Given the description of an element on the screen output the (x, y) to click on. 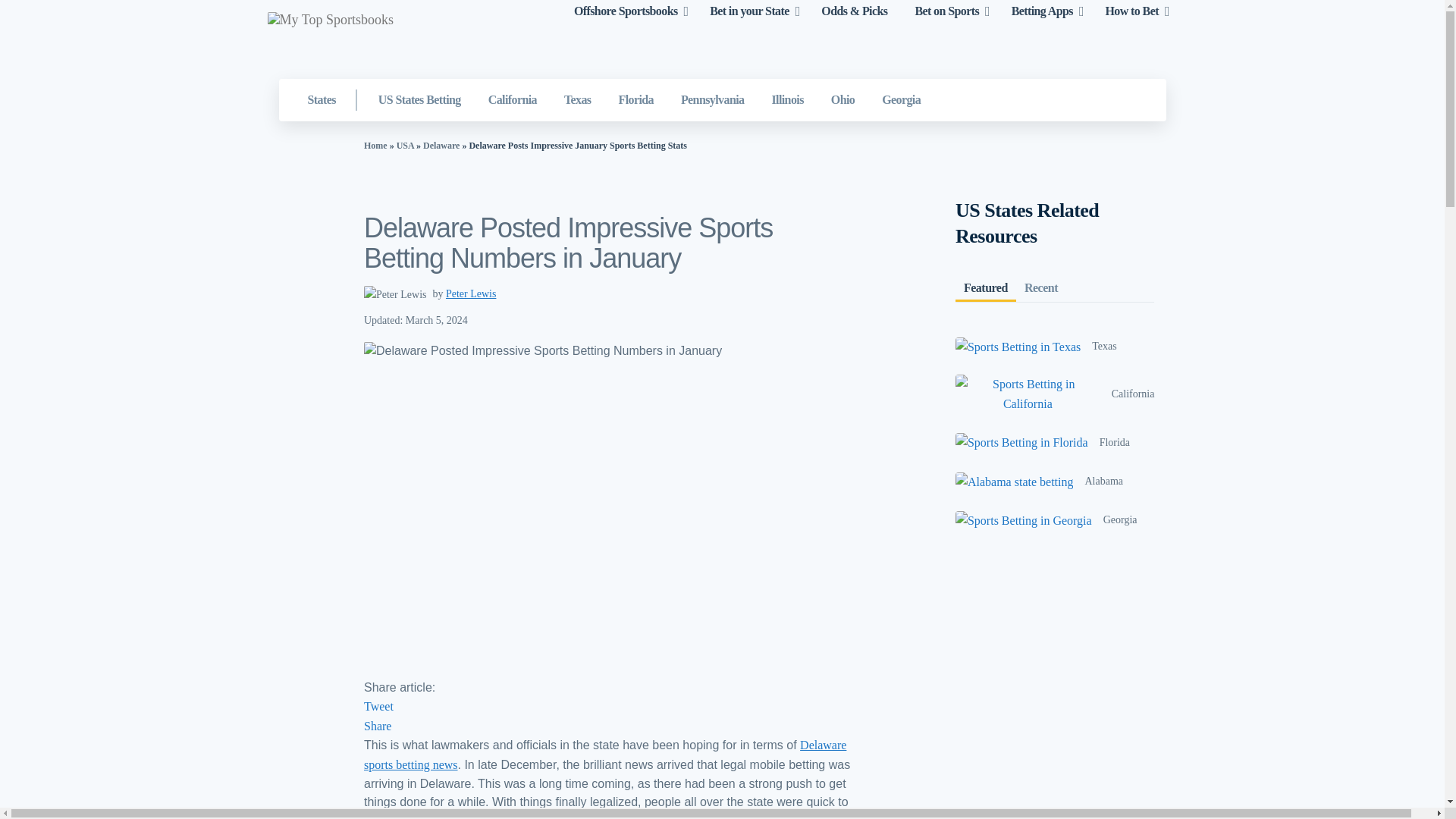
Offshore Sportsbooks (625, 11)
Bet on Sports (946, 11)
legal sports betting online (748, 11)
Bet in your State (748, 11)
Offshore Sportsbooks (625, 11)
Betting Apps (1042, 11)
